Given the description of an element on the screen output the (x, y) to click on. 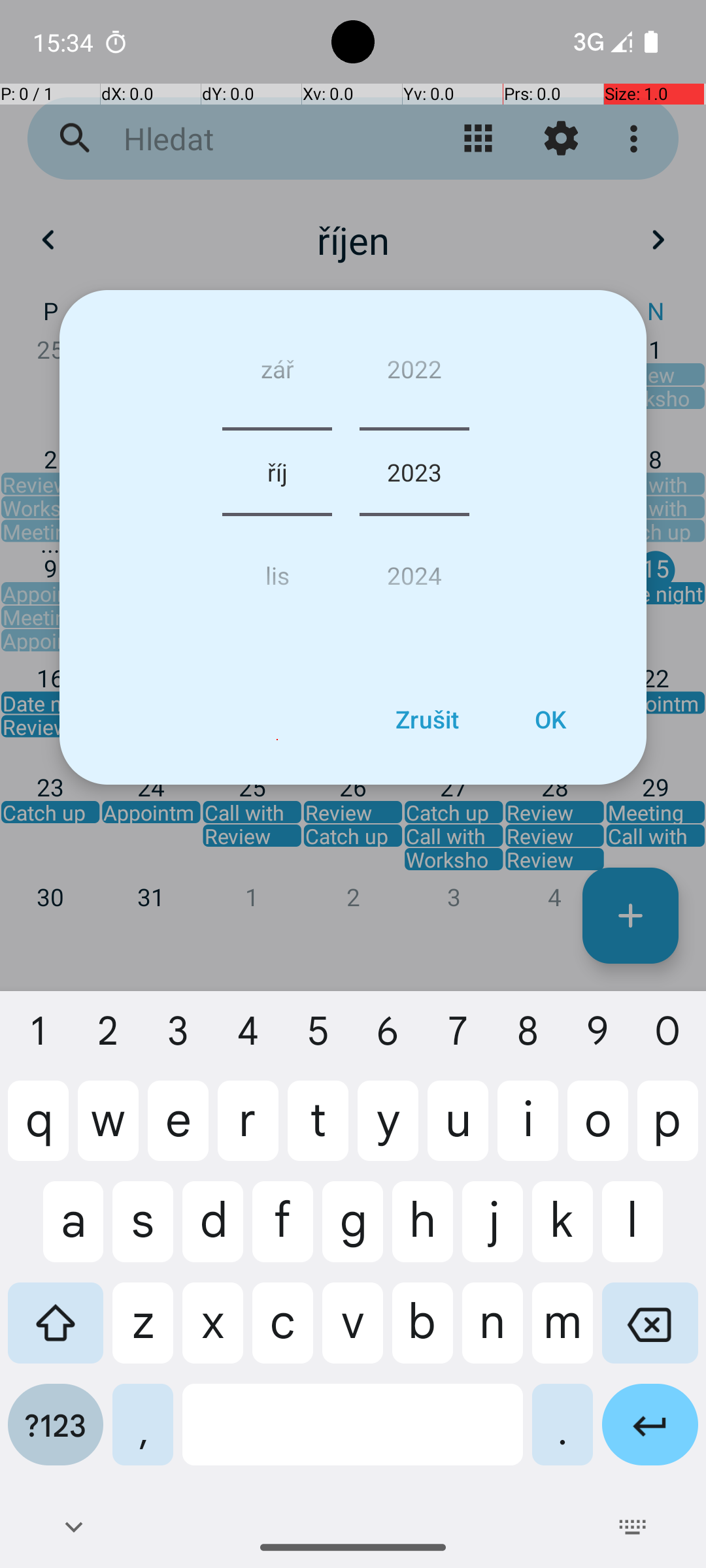
zář Element type: android.widget.Button (277, 373)
říj Element type: android.widget.EditText (277, 471)
lis Element type: android.widget.Button (277, 569)
